Given the description of an element on the screen output the (x, y) to click on. 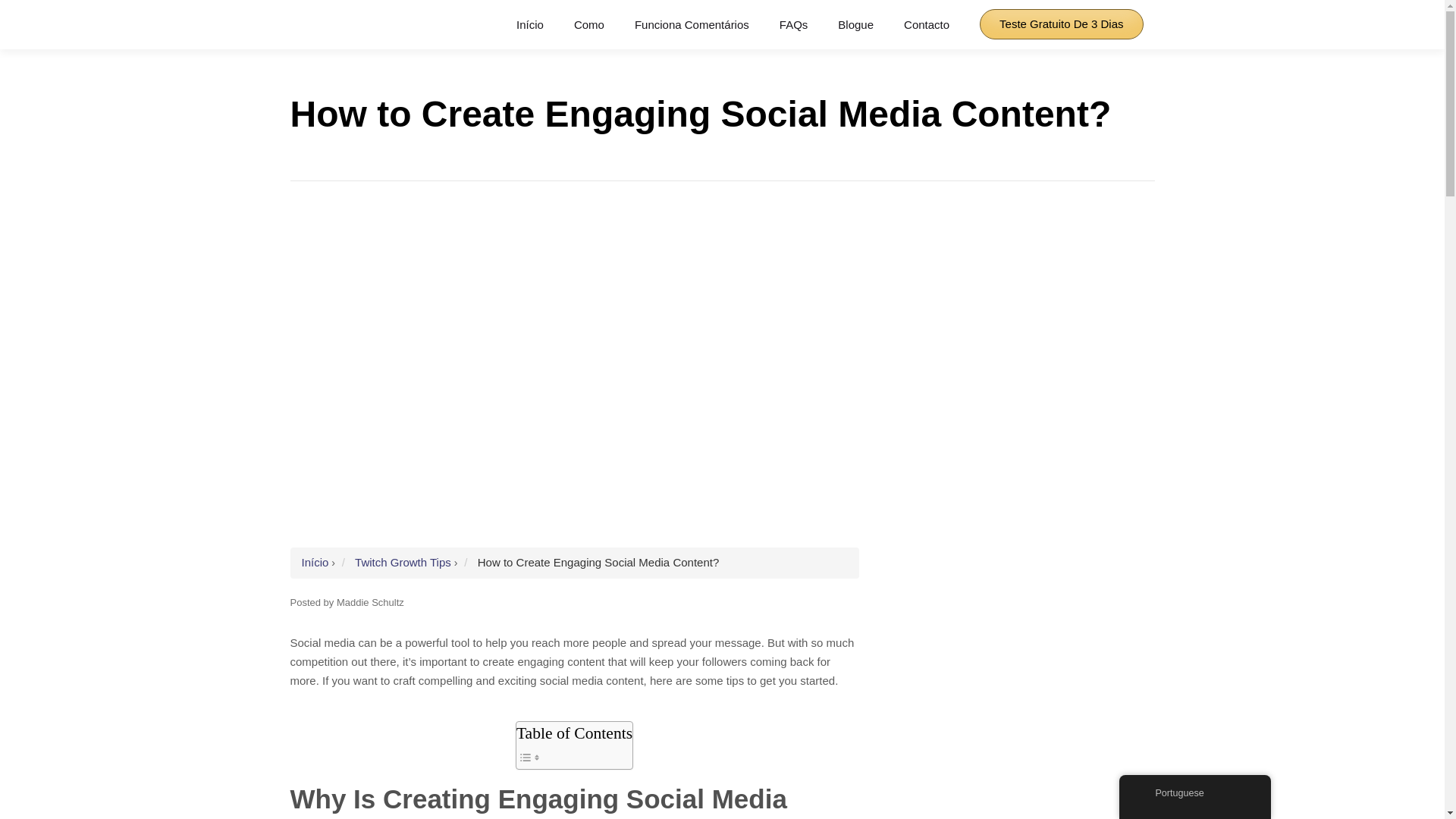
Teste Gratuito De 3 Dias (1060, 24)
Maddie Schultz (370, 602)
Artigos de Maddie Schultz (370, 602)
Contacto (926, 25)
Twitch Growth Tips (403, 562)
Como (588, 25)
FAQs (793, 25)
Blogue (855, 25)
